Given the description of an element on the screen output the (x, y) to click on. 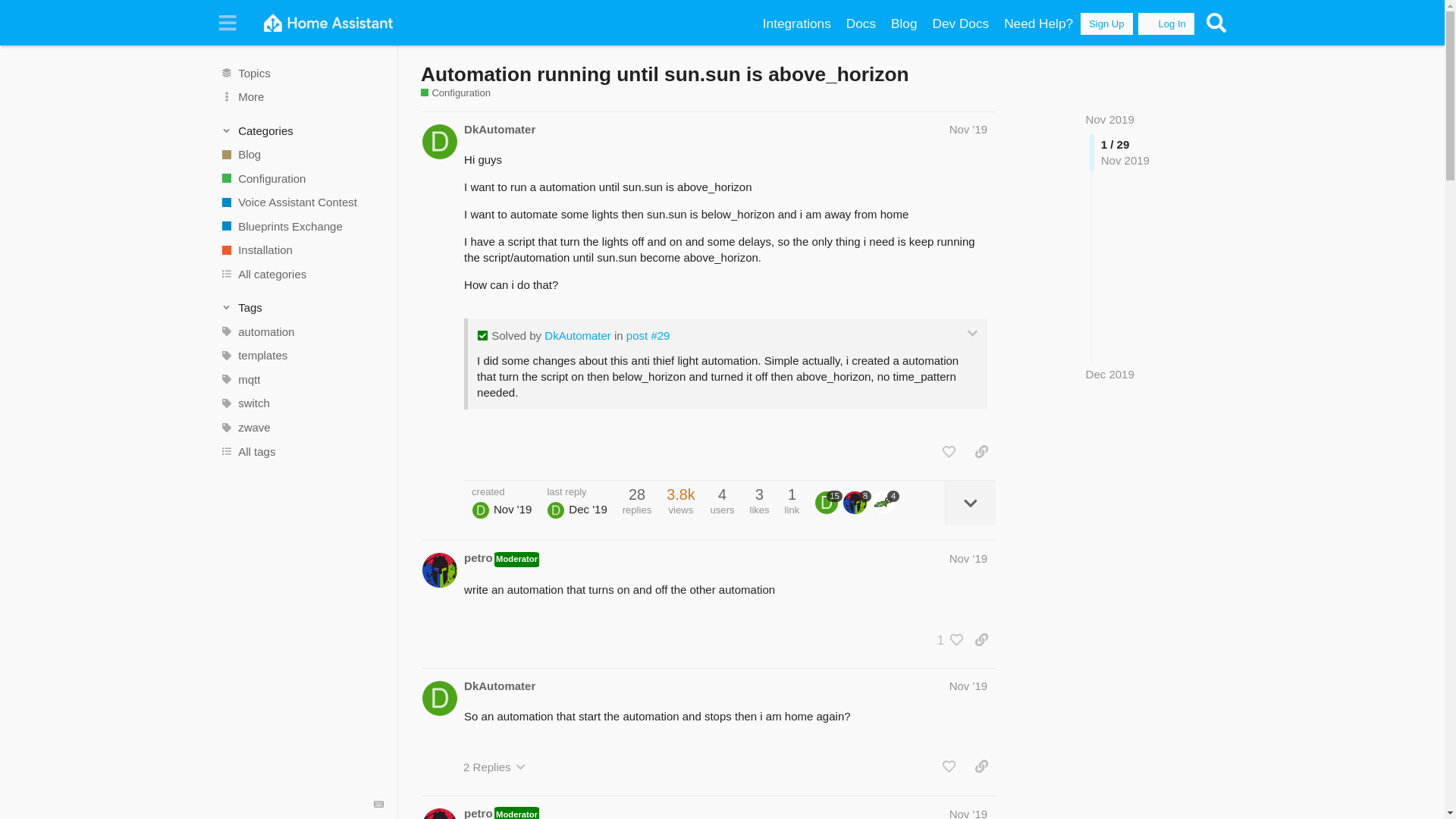
automation (301, 331)
Log In (1165, 24)
Topics (301, 72)
templates (301, 355)
All topics (301, 72)
Dec 2019 (1110, 374)
Tags (301, 307)
Search (1215, 22)
mqtt (301, 379)
Toggle section (301, 307)
Nov 2019 (1110, 119)
Toggle section (301, 130)
Developer Docs (960, 23)
